Given the description of an element on the screen output the (x, y) to click on. 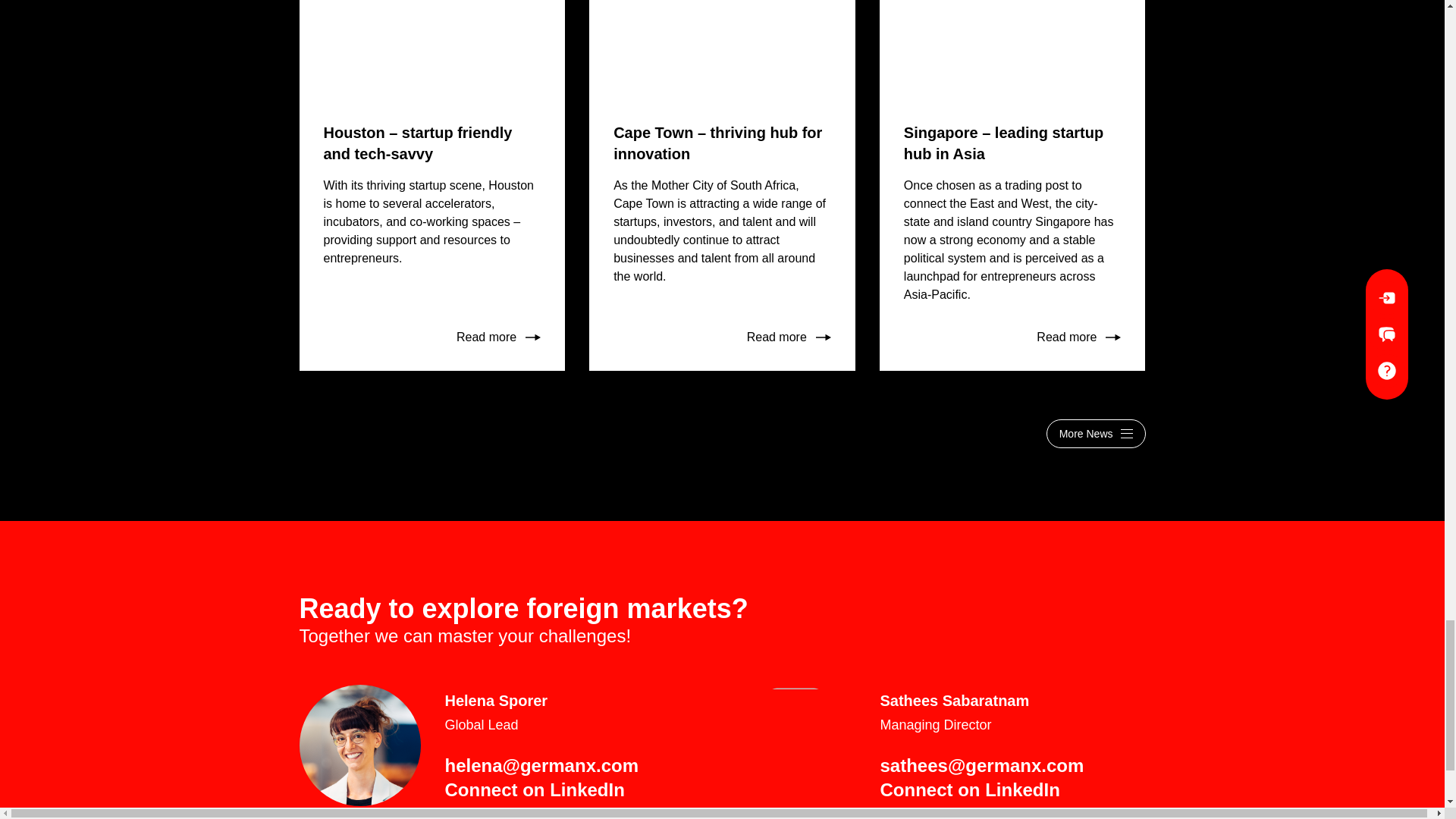
More News (1095, 433)
Read more (788, 337)
Read more (1078, 337)
Read more (498, 337)
